Given the description of an element on the screen output the (x, y) to click on. 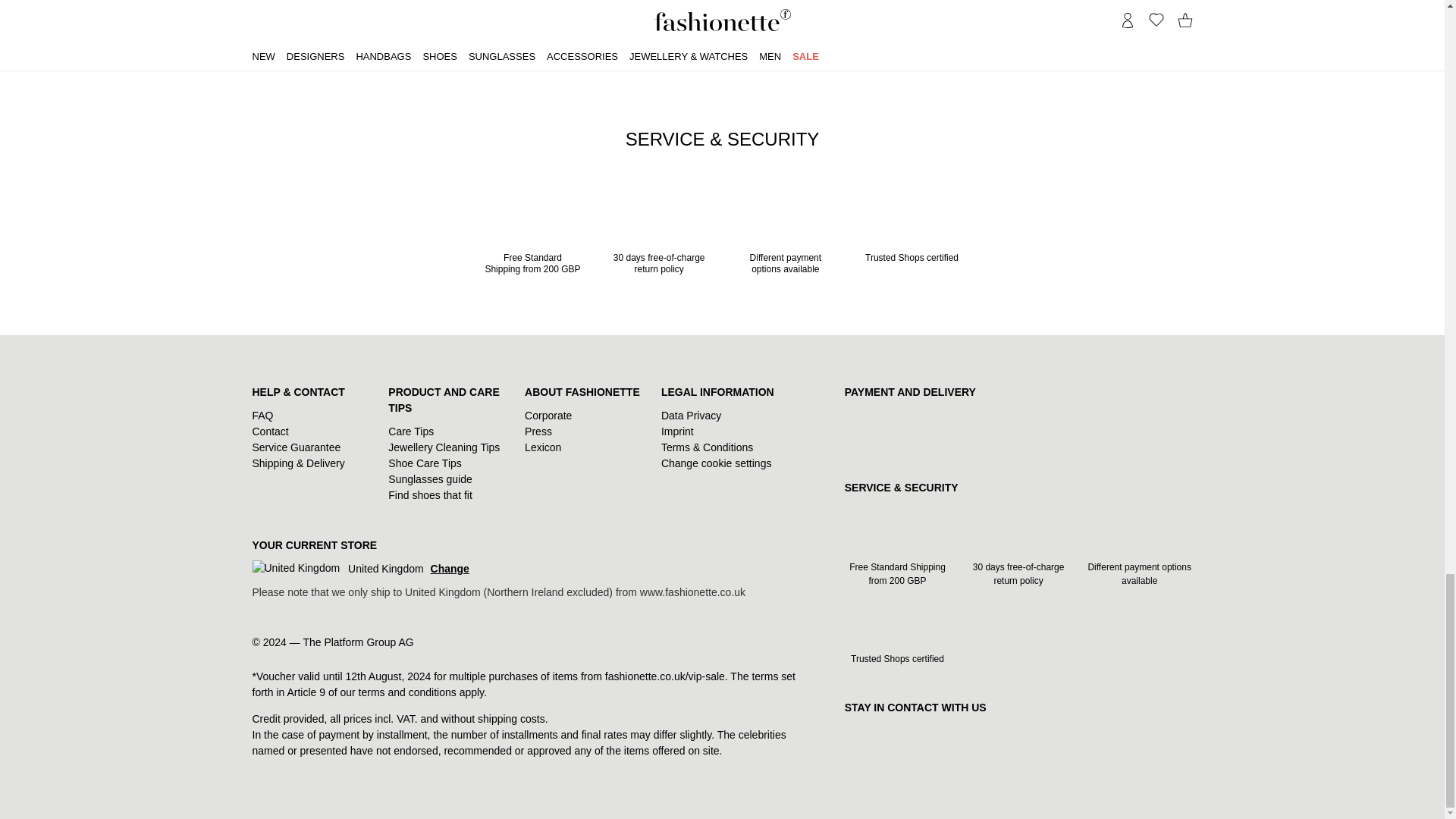
Trusted Shops certified (911, 231)
FAQ (262, 415)
Contact (269, 431)
Free Standard Shipping from 200 GBP (532, 236)
30 days free-of-charge return policy (659, 236)
Sign up now (876, 31)
FAQ (262, 415)
Sign up now (876, 31)
Different payment options available (784, 236)
